Given the description of an element on the screen output the (x, y) to click on. 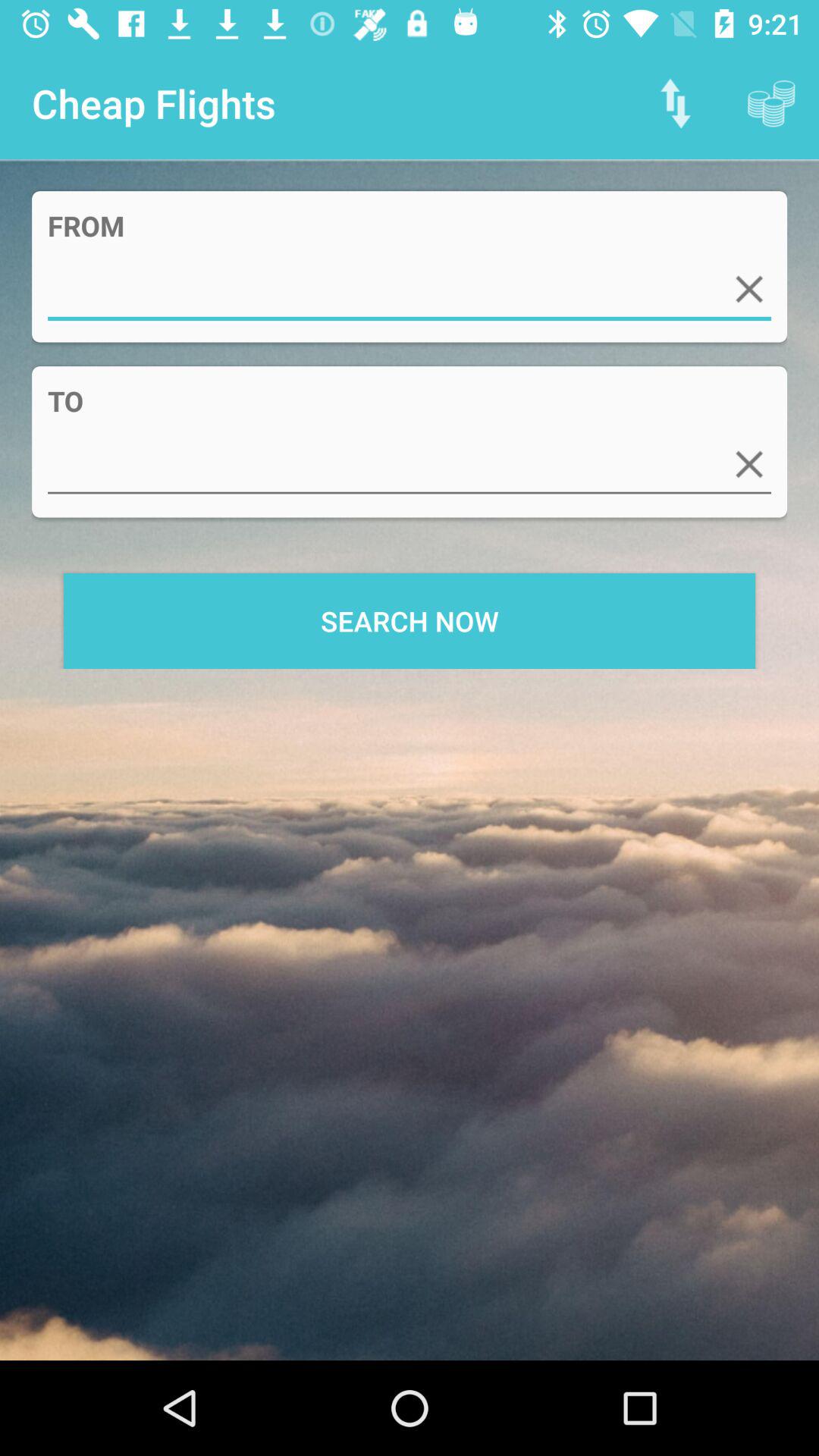
erase the from (749, 289)
